Given the description of an element on the screen output the (x, y) to click on. 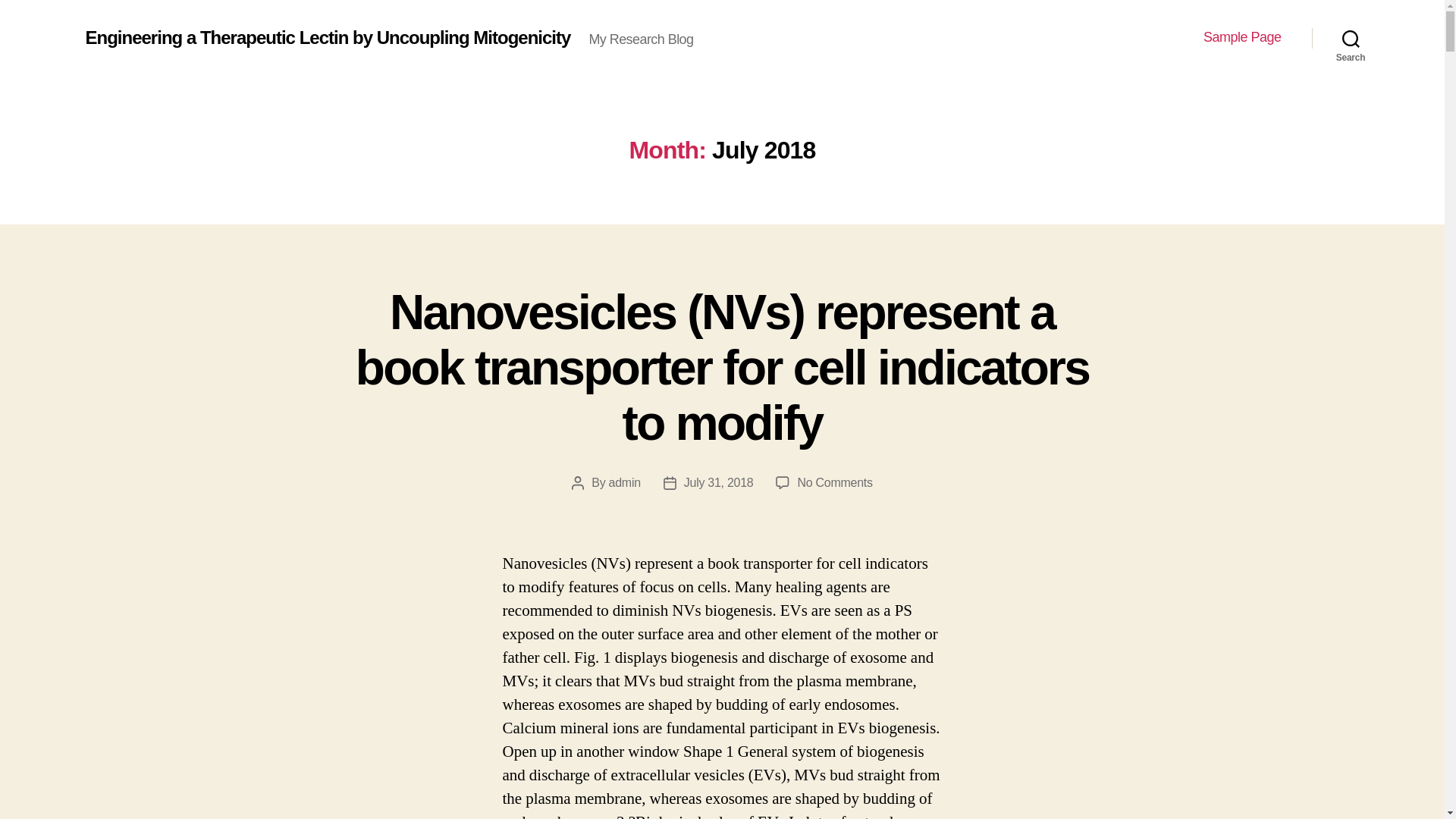
Search (1350, 37)
admin (624, 481)
Engineering a Therapeutic Lectin by Uncoupling Mitogenicity (327, 37)
July 31, 2018 (719, 481)
Sample Page (1242, 37)
